Given the description of an element on the screen output the (x, y) to click on. 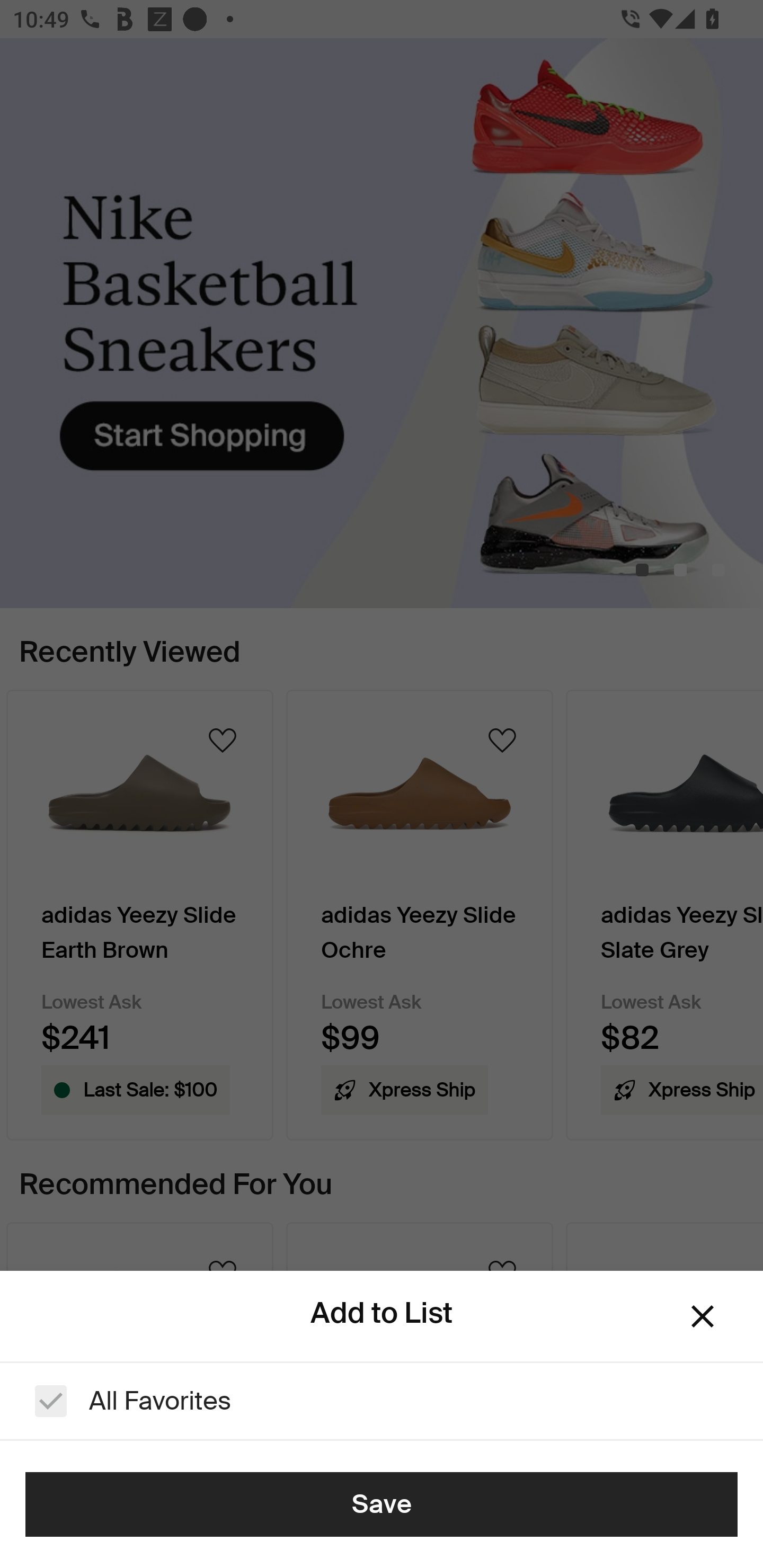
Dismiss (702, 1315)
All Favorites (381, 1400)
Save (381, 1504)
